Given the description of an element on the screen output the (x, y) to click on. 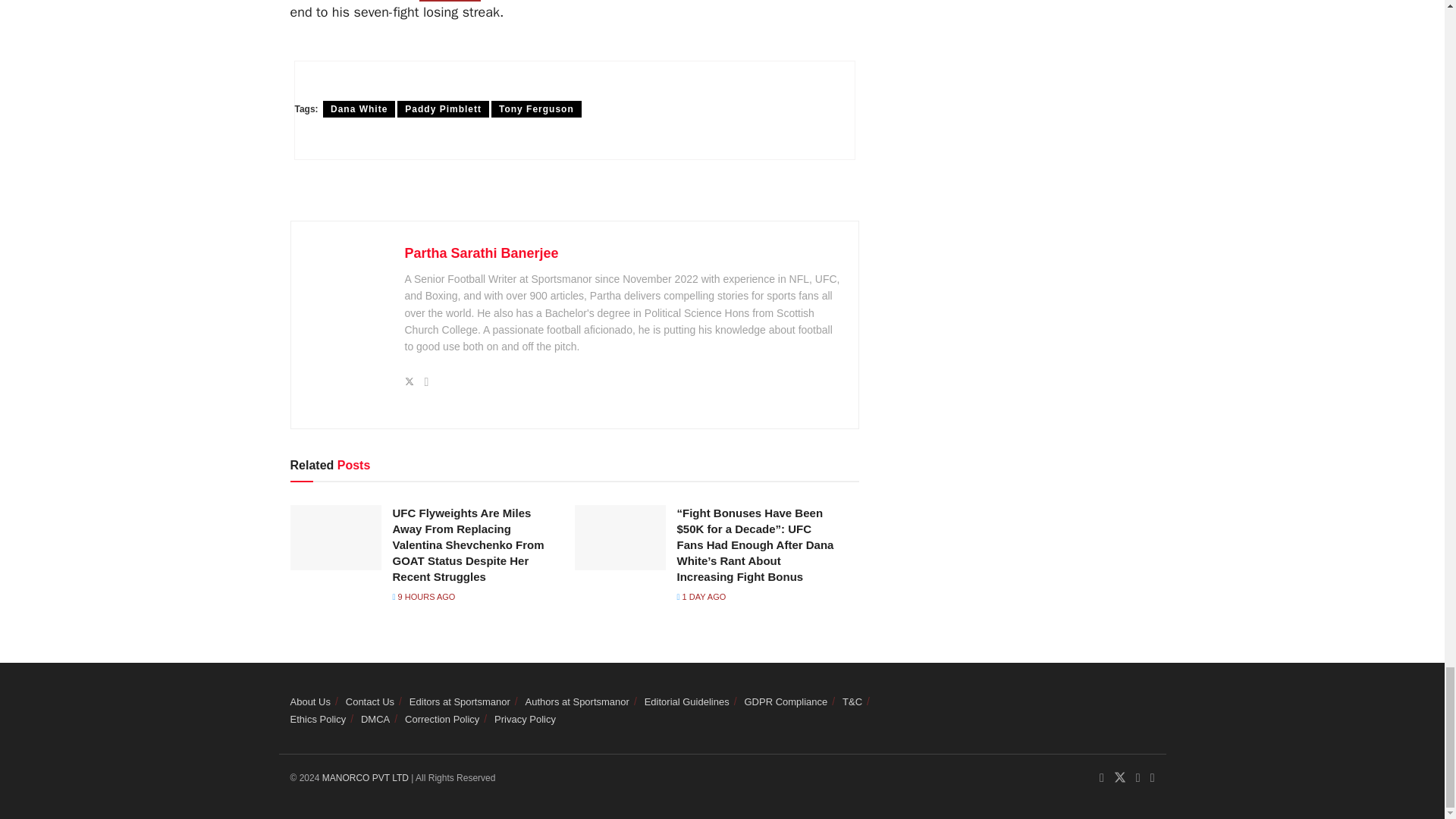
Sportsmanor (366, 777)
